Given the description of an element on the screen output the (x, y) to click on. 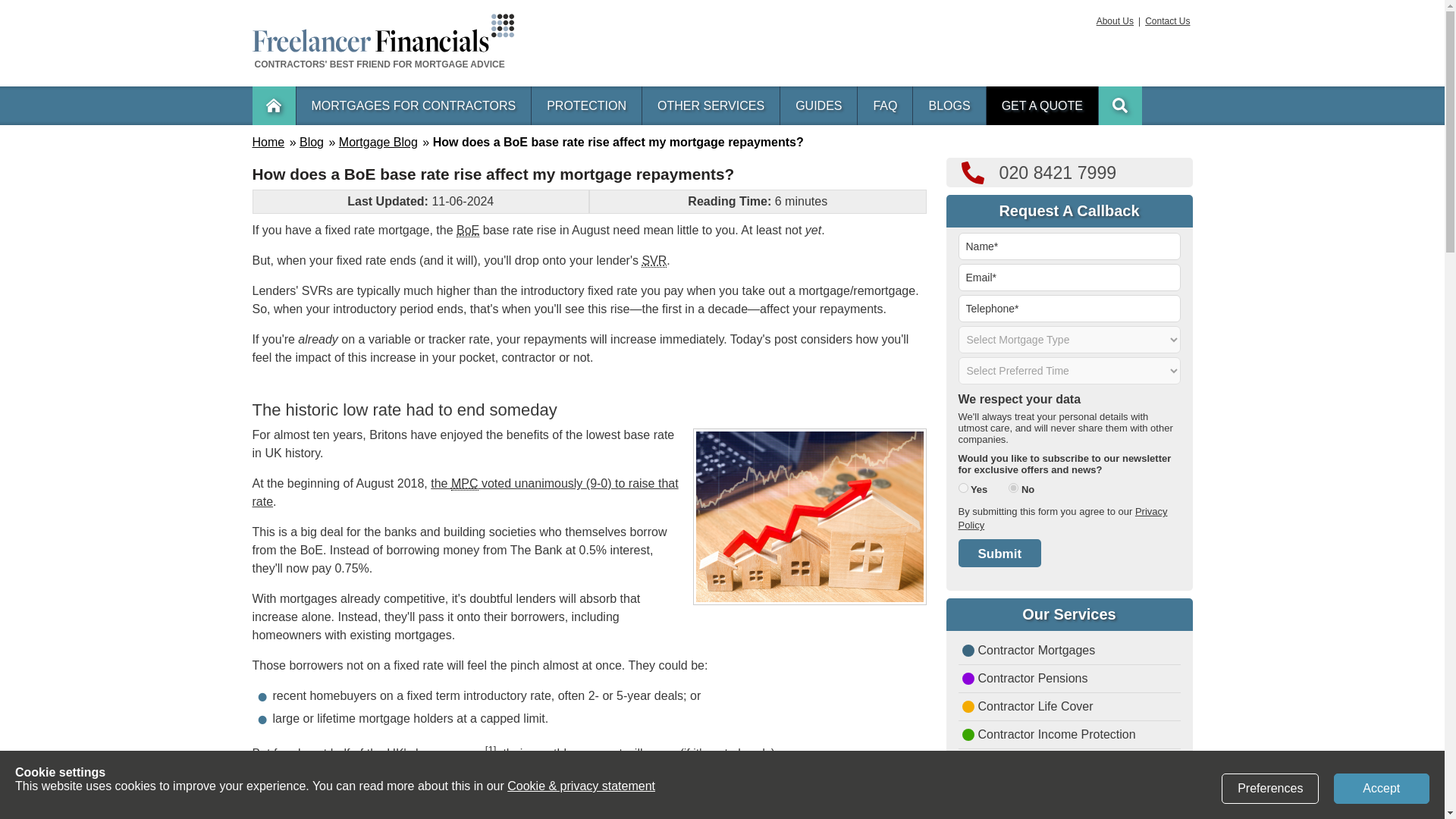
How does a BoE base rate rise affect my mortgage repayments? (617, 141)
CONTRACTORS' BEST FRIEND FOR MORTGAGE ADVICE (382, 56)
About Us (1115, 20)
Blog (311, 141)
1 (490, 749)
Which? Survey: Fixed Rate Mortgages (490, 749)
Critical Illness Cover (1069, 765)
Yes (963, 488)
Mortgage Blog (378, 141)
Bank of England (468, 230)
No (1013, 488)
Contractor Mortgages (1069, 653)
Submit (1000, 552)
020 8421 7999 (1069, 172)
